Given the description of an element on the screen output the (x, y) to click on. 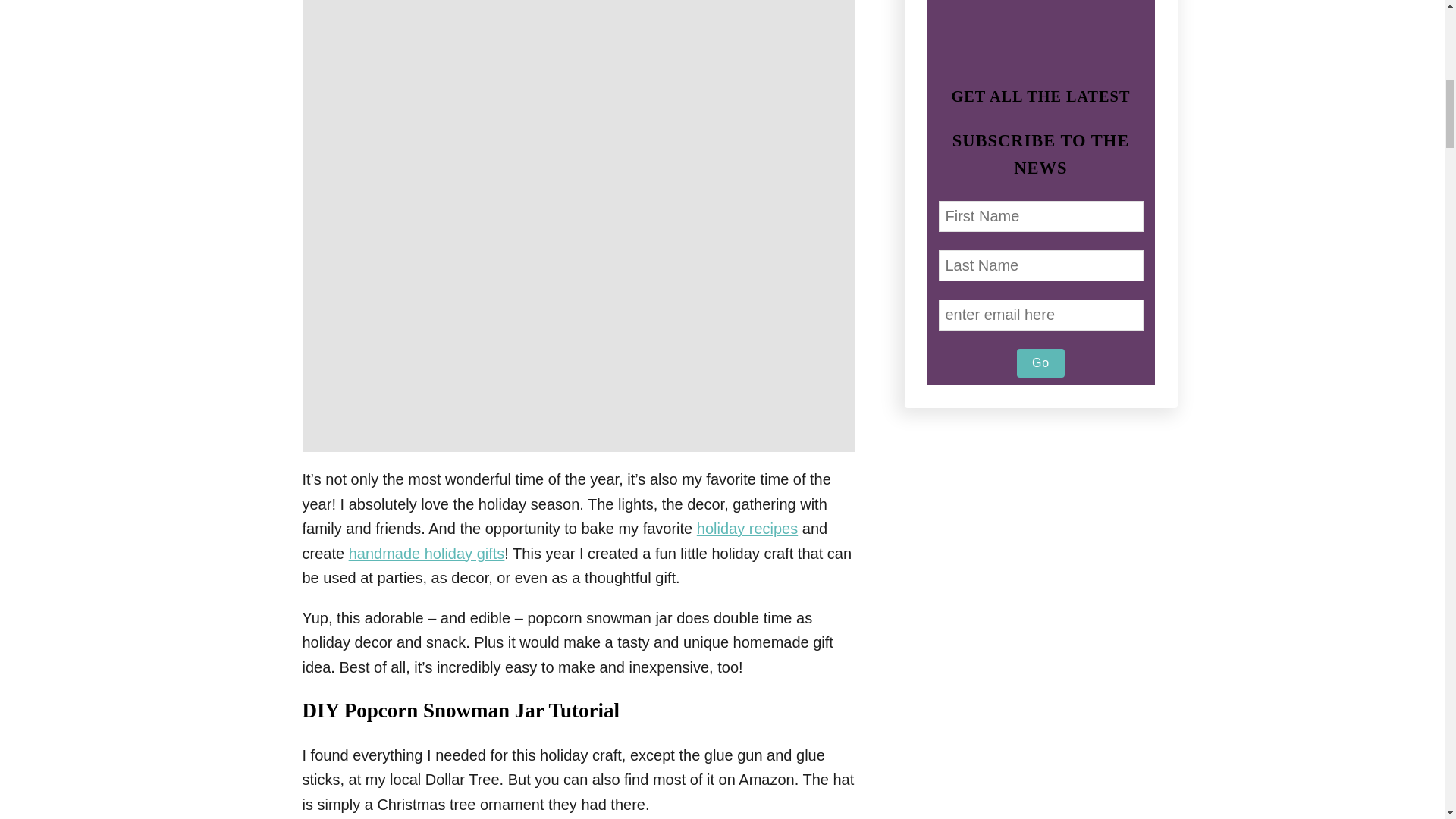
Go (1040, 362)
